Given the description of an element on the screen output the (x, y) to click on. 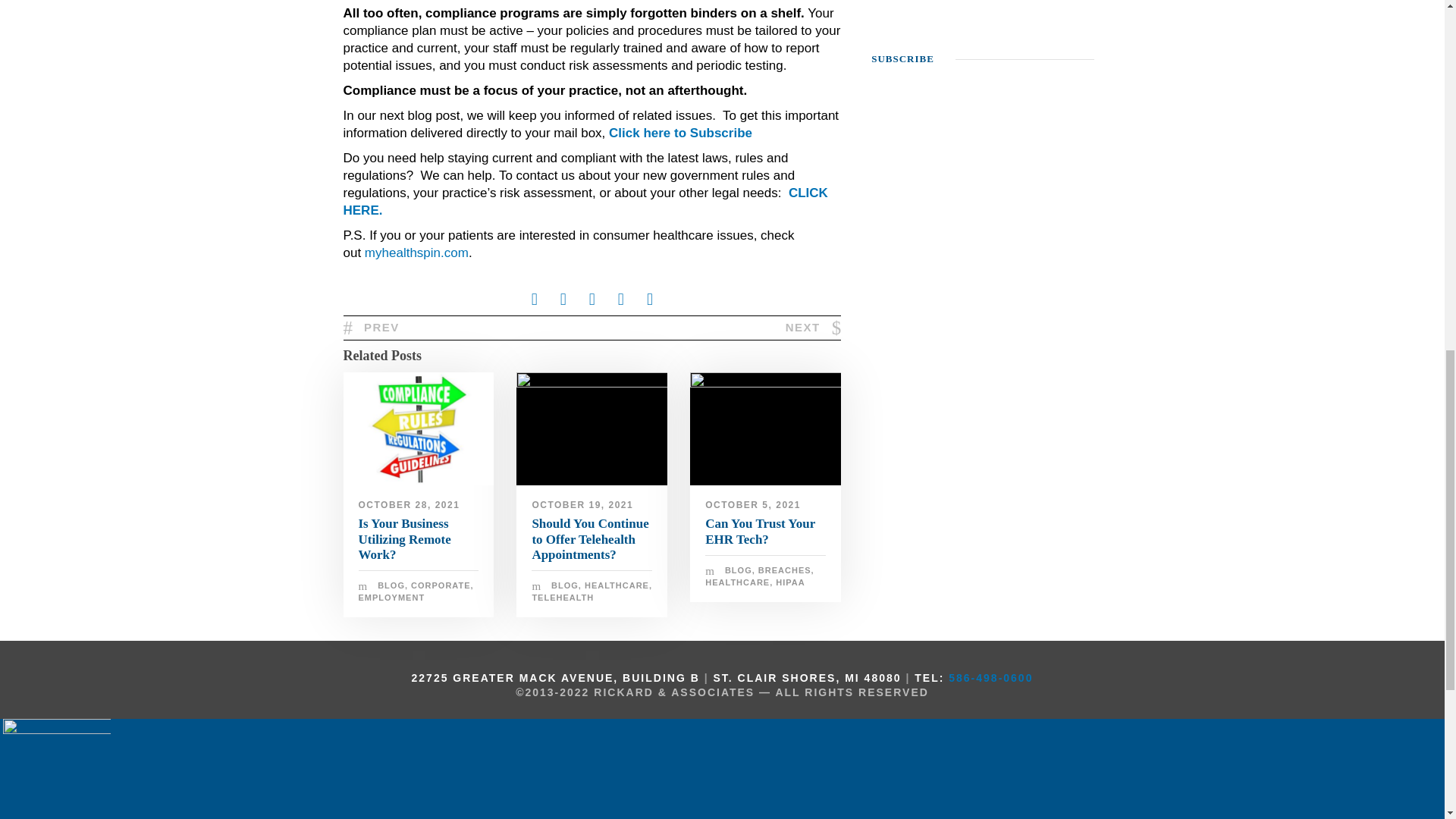
CLICK HERE (584, 201)
Click here to Subscribe (680, 133)
HealthSpin (416, 252)
compliance-rules-regulations (417, 428)
electronic health record system (765, 428)
telemedicine (591, 428)
